Given the description of an element on the screen output the (x, y) to click on. 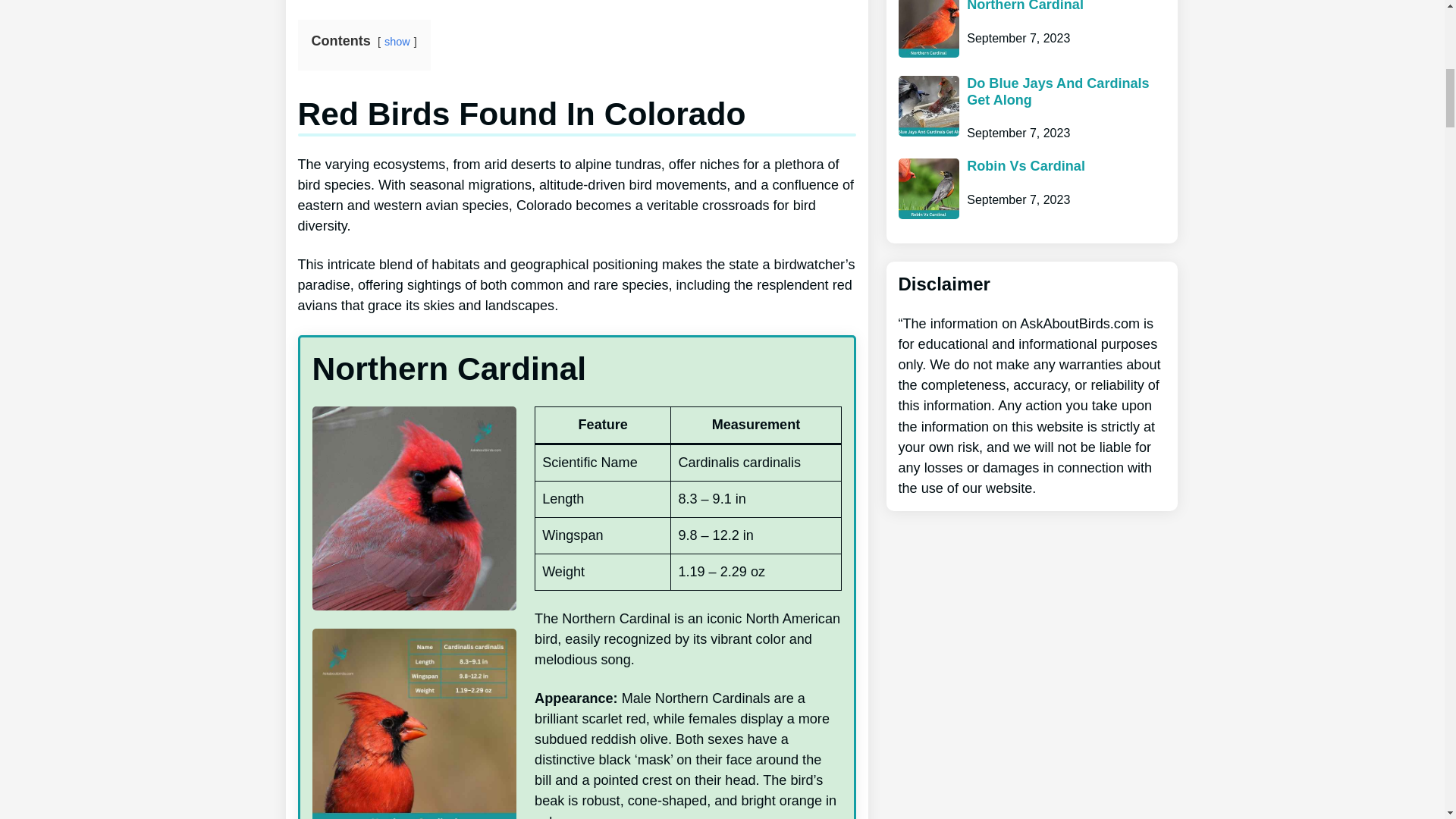
Northern Cardinal (1024, 6)
Do Blue Jays And Cardinals Get Along (1065, 92)
show (397, 41)
